Given the description of an element on the screen output the (x, y) to click on. 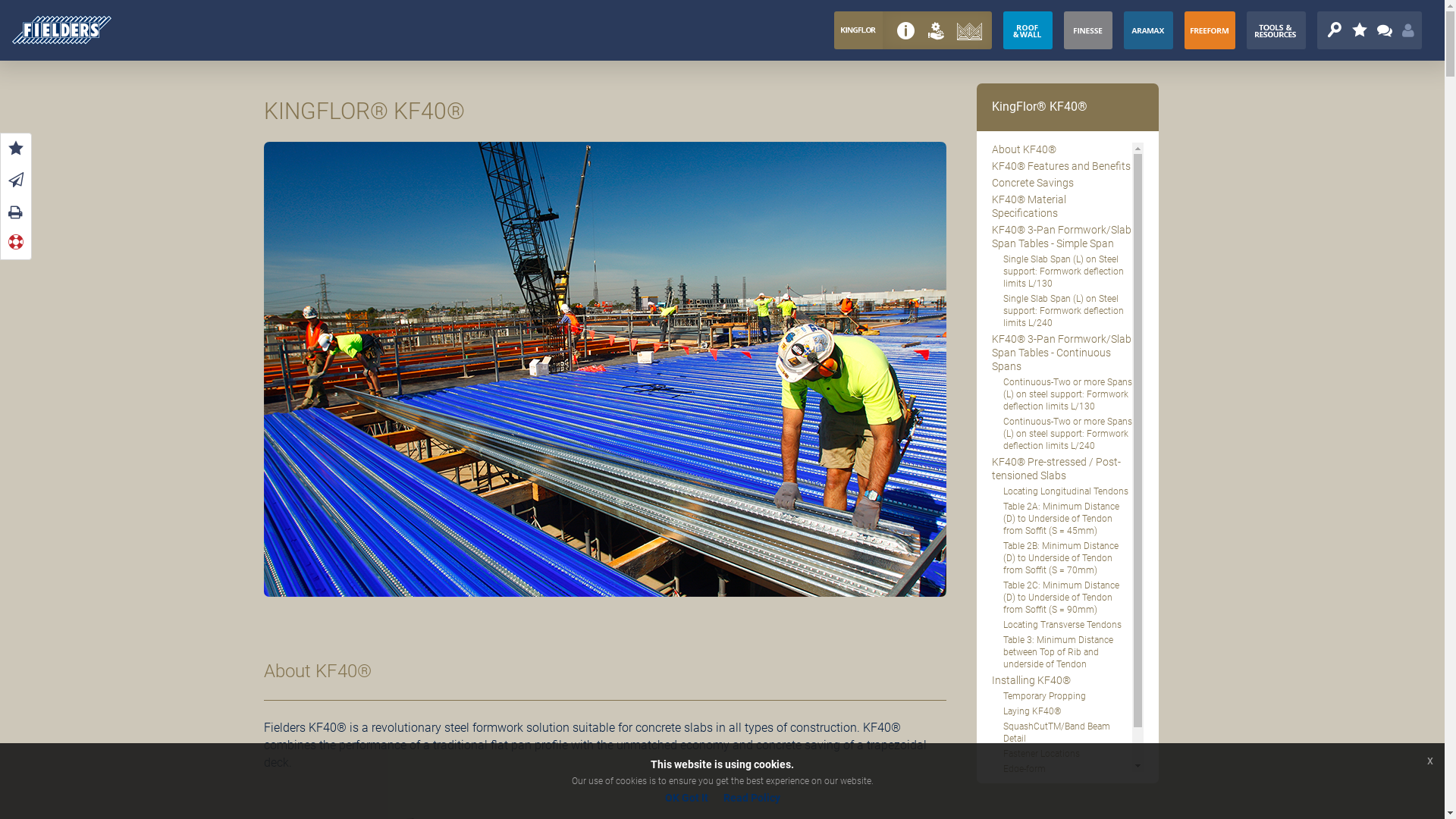
Edge-form Element type: text (1061, 770)
x Element type: text (1429, 760)
Locating Longitudinal Tendons Element type: text (1061, 492)
Locating Transverse Tendons Element type: text (1061, 625)
Reinforcement Element type: text (1061, 785)
Fastener Locations Element type: text (1061, 754)
SquashCutTM/Band Beam Detail Element type: text (1061, 733)
Read Policy Element type: text (751, 797)
Concrete Placement Element type: text (1061, 800)
OK Got It Element type: text (685, 797)
Temporary Propping Element type: text (1061, 697)
Concrete Savings Element type: text (1061, 183)
